Given the description of an element on the screen output the (x, y) to click on. 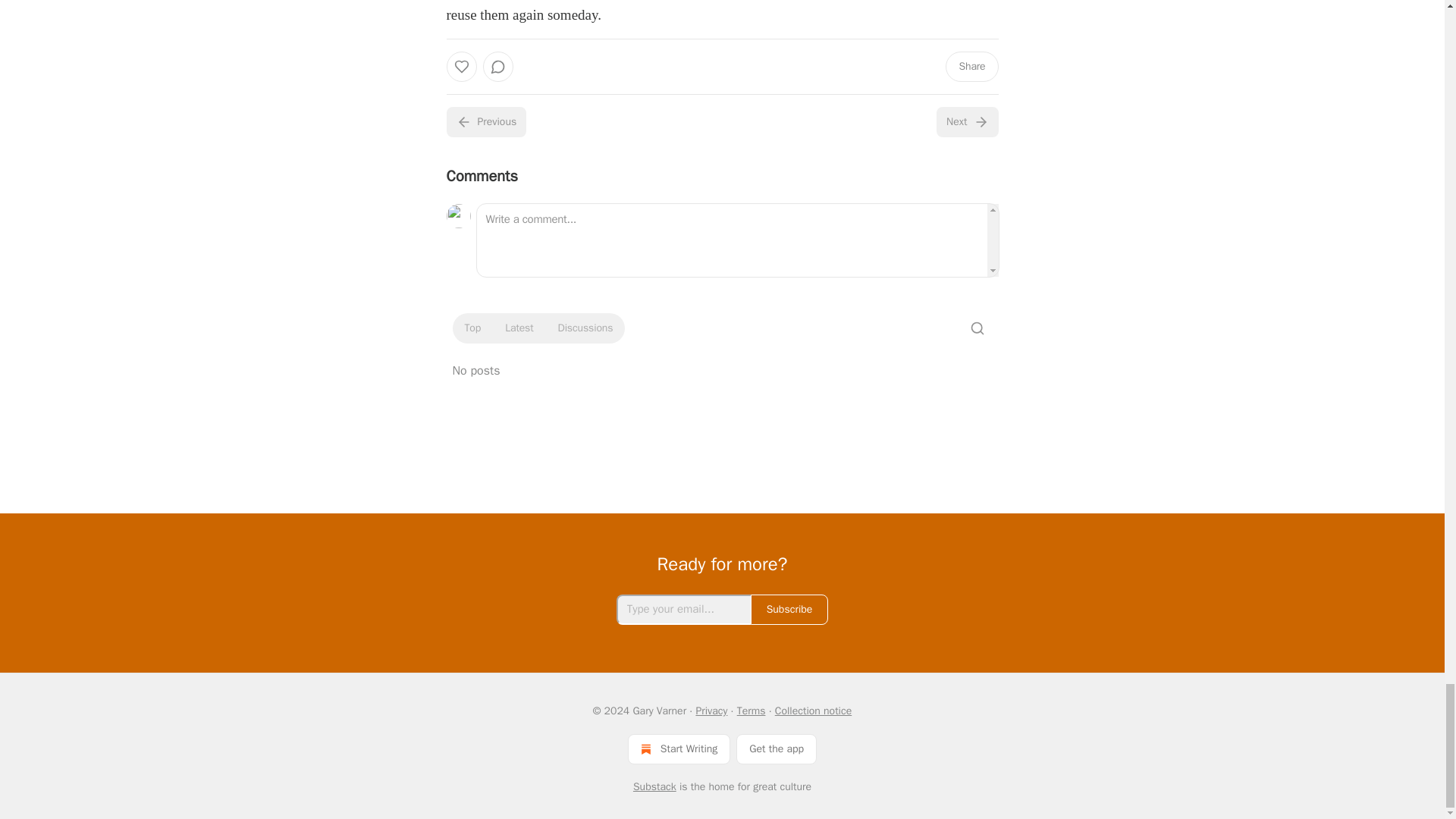
Latest (518, 328)
Top (471, 328)
Discussions (585, 328)
Next (966, 122)
Previous (485, 122)
Share (970, 66)
